Given the description of an element on the screen output the (x, y) to click on. 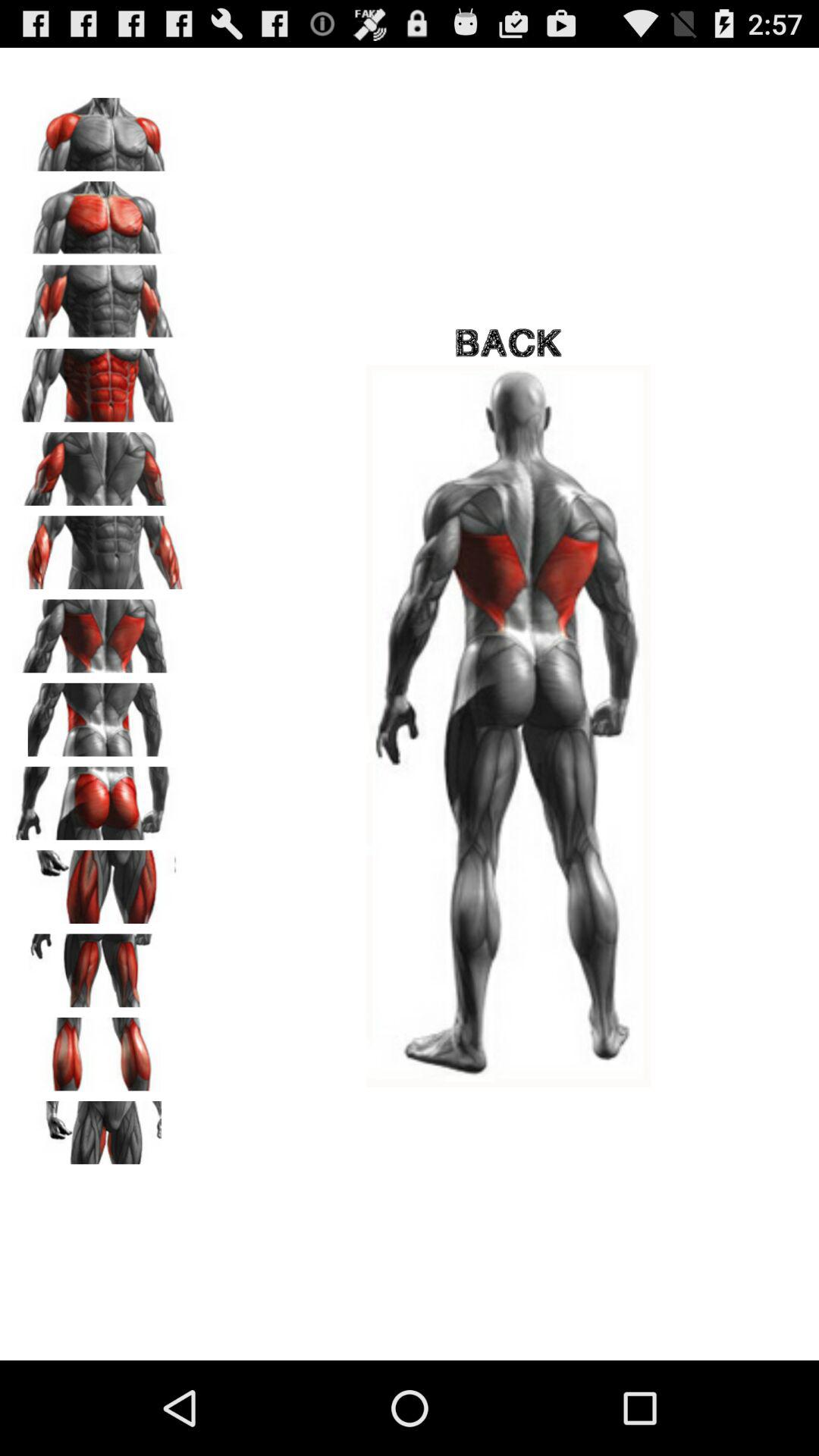
grey back with red arms (99, 296)
